Given the description of an element on the screen output the (x, y) to click on. 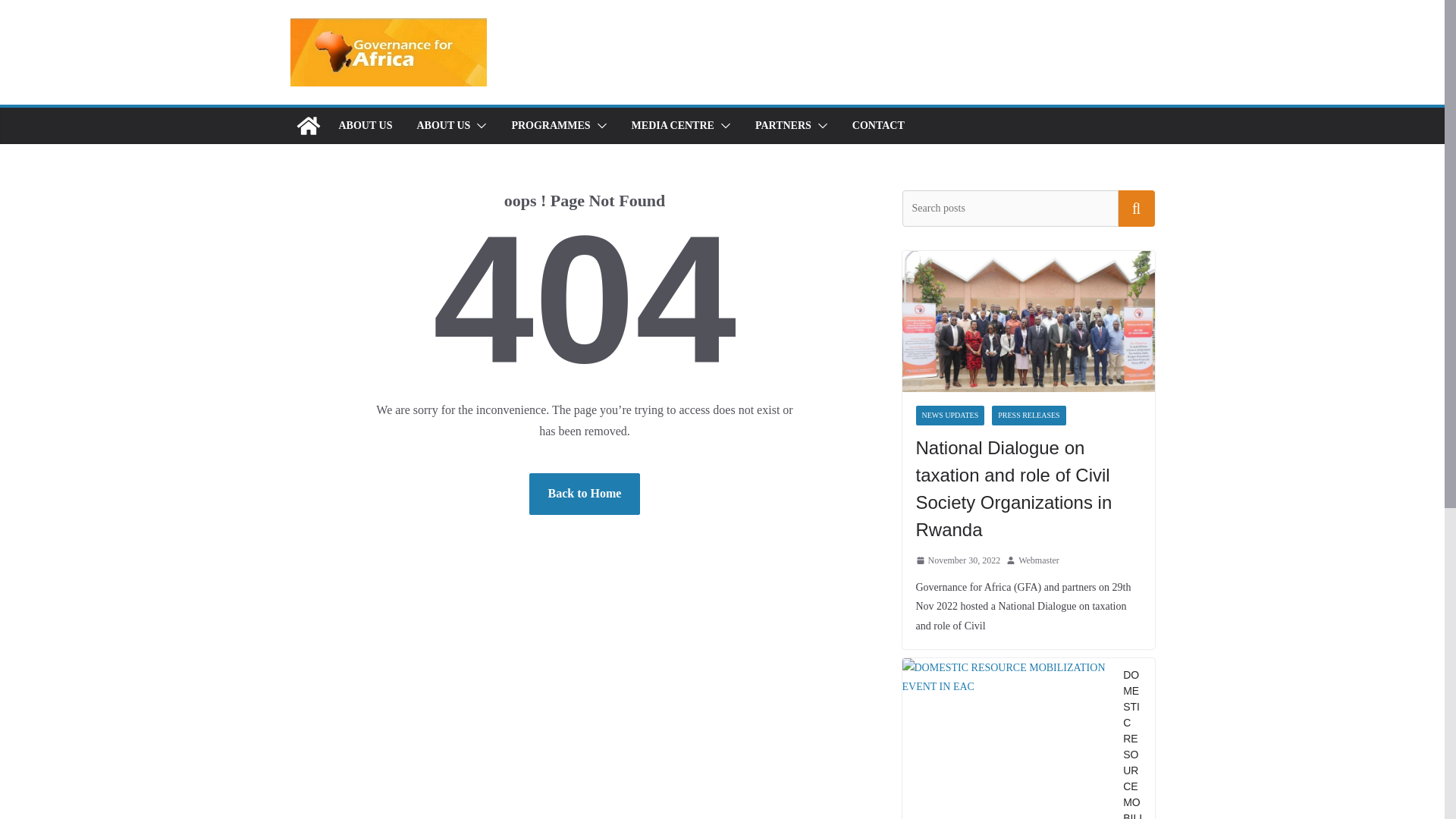
7:34 PM (958, 560)
DOMESTIC RESOURCE MOBILIZATION EVENT IN EAC (1007, 677)
MEDIA CENTRE (672, 125)
ABOUT US (364, 125)
PROGRAMMES (550, 125)
ABOUT US (443, 125)
PARTNERS (782, 125)
DOMESTIC RESOURCE MOBILIZATION EVENT IN EAC (1007, 738)
CONTACT (877, 125)
Webmaster (1038, 560)
